Given the description of an element on the screen output the (x, y) to click on. 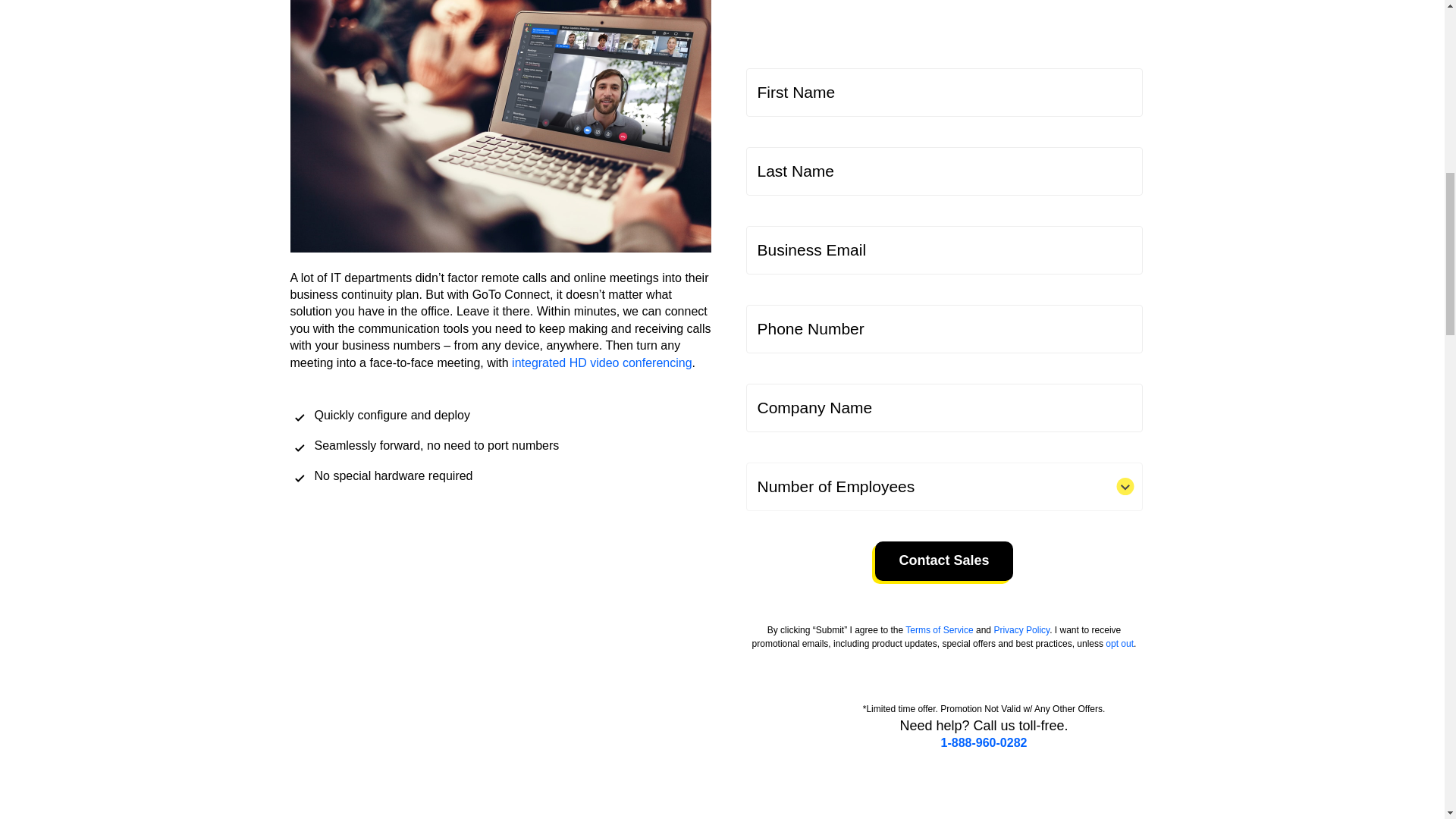
Contact Sales (943, 560)
